Given the description of an element on the screen output the (x, y) to click on. 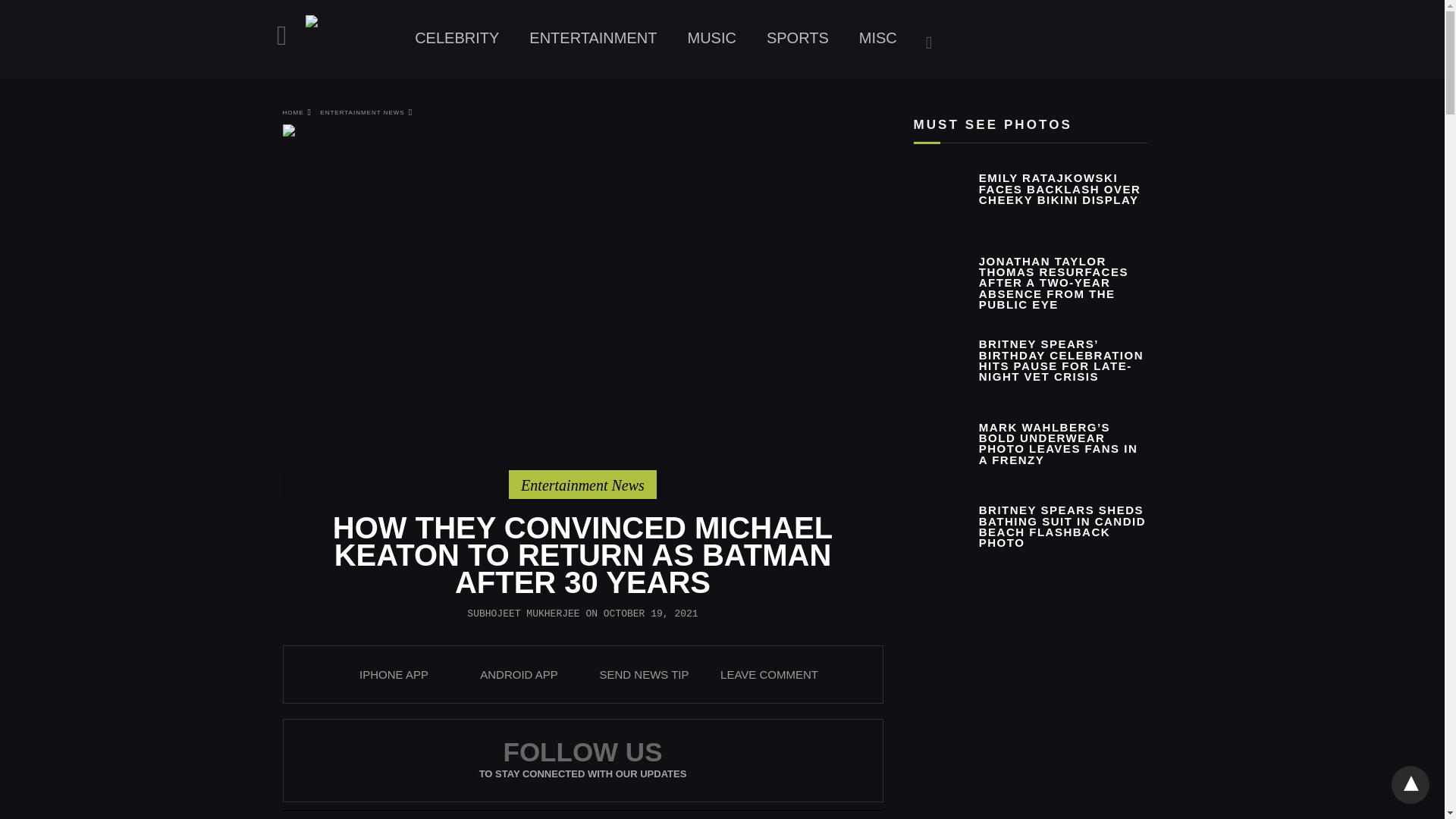
MISC (878, 37)
SPORTS (797, 37)
MUSIC (711, 37)
SUBHOJEET MUKHERJEE (523, 613)
ANDROID APP (518, 674)
IPHONE APP (393, 674)
Entertainment News (592, 37)
ENTERTAINMENT NEWS (366, 112)
SEND NEWS TIP (643, 674)
Sports News (797, 37)
